Given the description of an element on the screen output the (x, y) to click on. 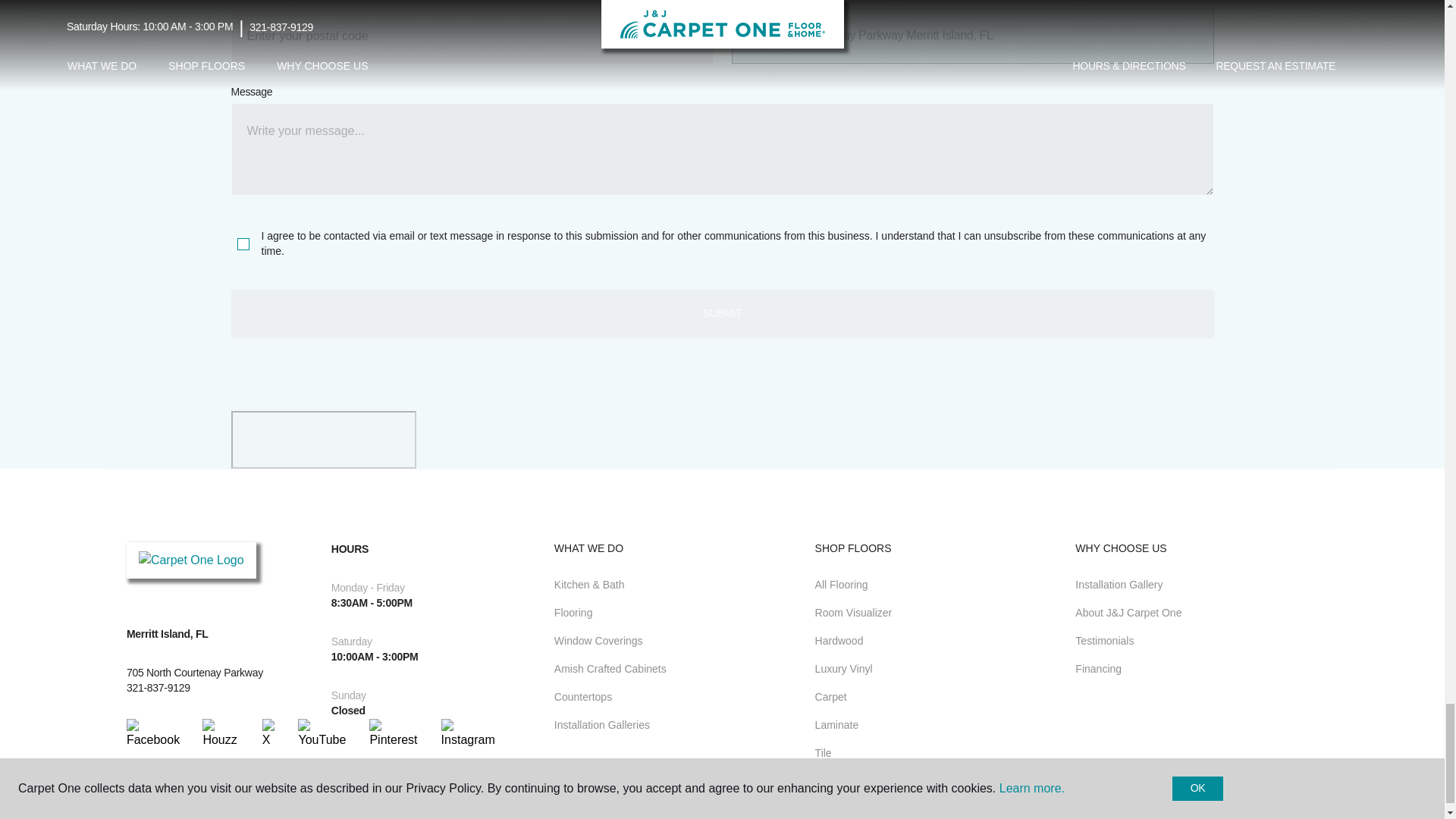
MyMessage (721, 149)
PostalCode (471, 36)
